Given the description of an element on the screen output the (x, y) to click on. 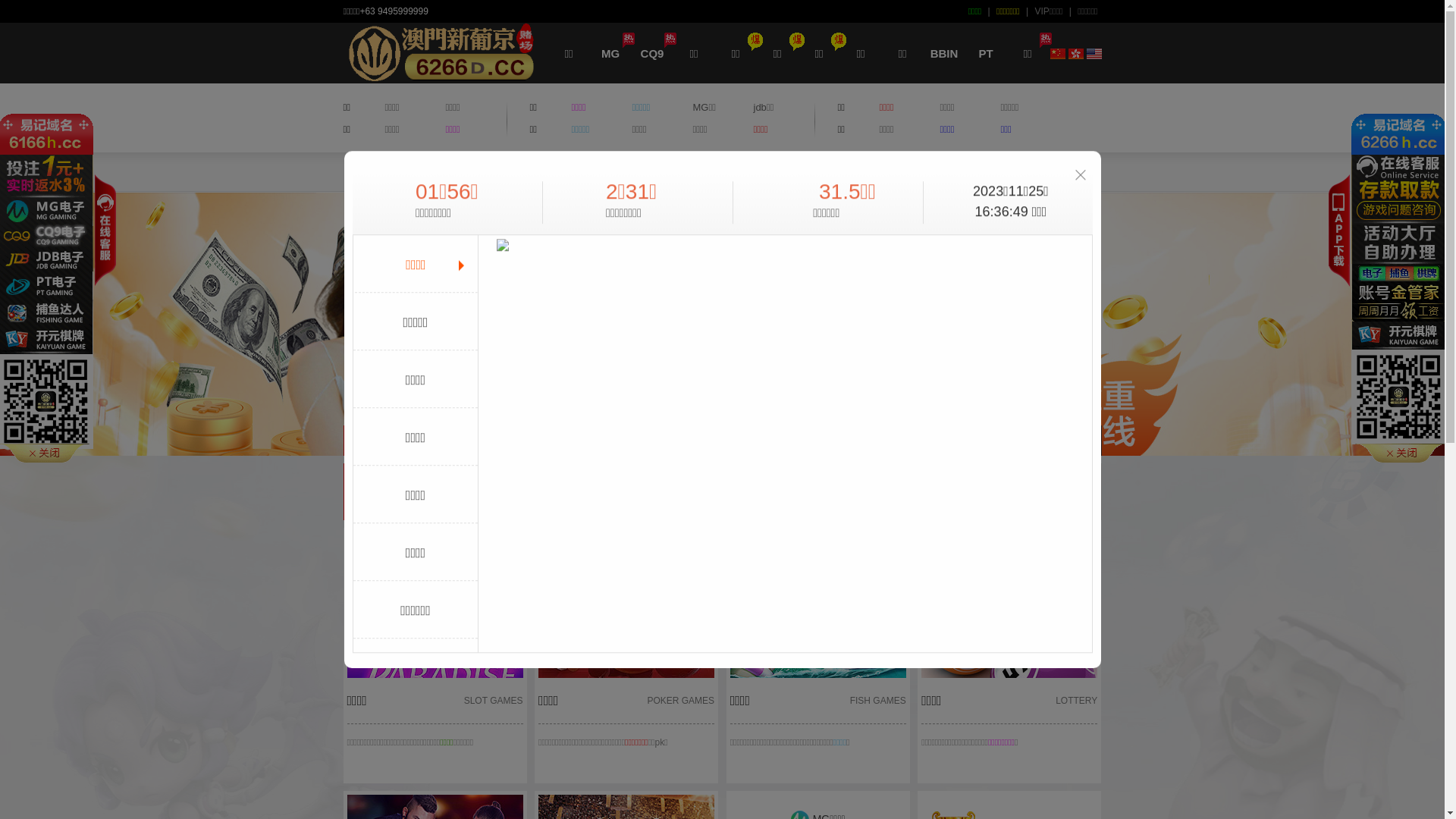
MG Element type: text (610, 52)
CQ9 Element type: text (651, 52)
English Element type: hover (1093, 53)
PT Element type: text (985, 52)
BBIN Element type: text (944, 52)
